Given the description of an element on the screen output the (x, y) to click on. 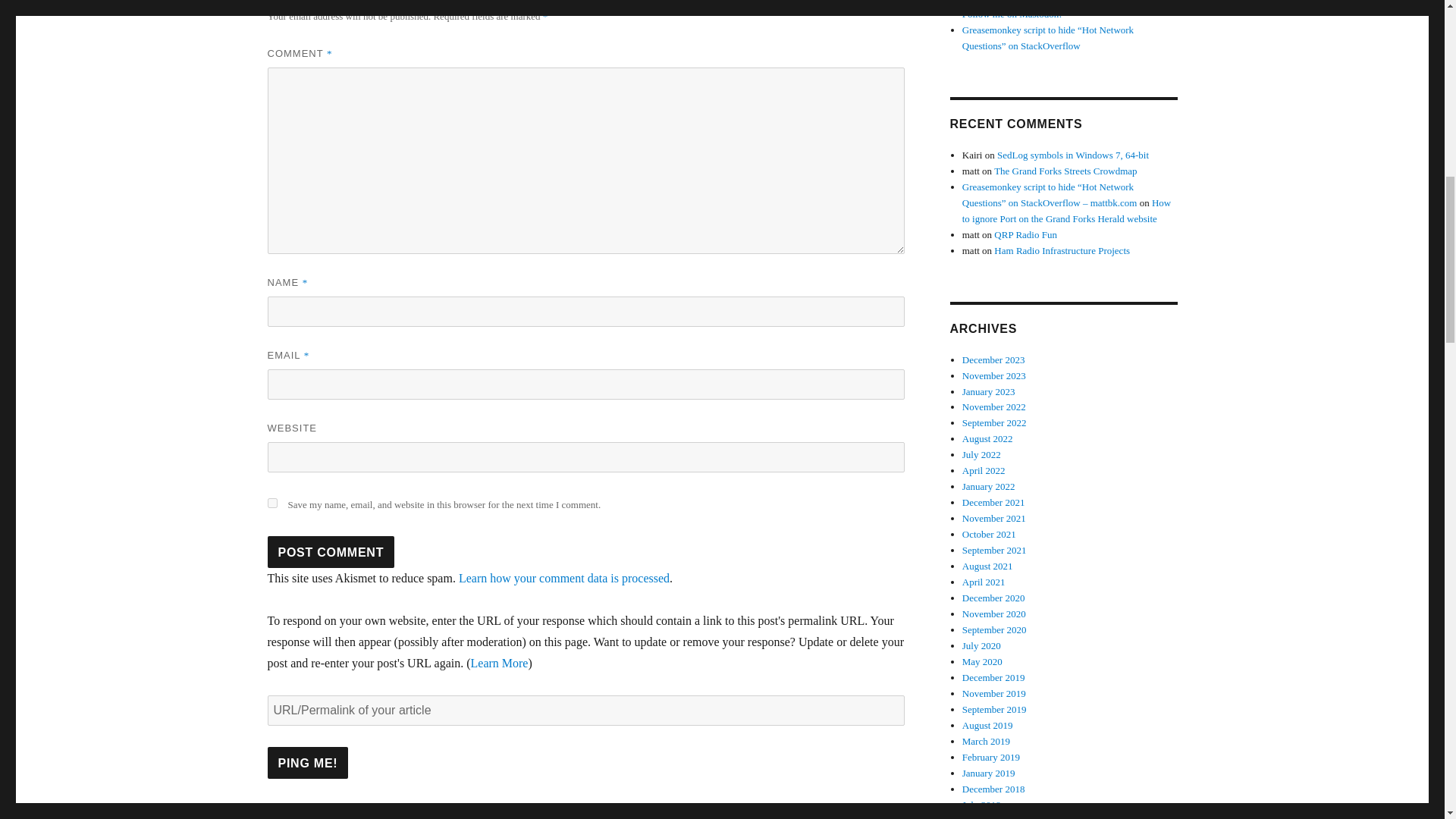
Follow me on Mastodon! (1012, 13)
November 2023 (994, 375)
SedLog symbols in Windows 7, 64-bit (1072, 154)
How to ignore Port on the Grand Forks Herald website (1067, 210)
Post Comment (330, 552)
Ping me! (306, 762)
Learn how your comment data is processed (563, 577)
Learn More (498, 662)
QRP Radio Fun (1025, 234)
Ham Radio Infrastructure Projects (1061, 250)
December 2023 (993, 359)
September 2022 (994, 422)
Northern Plains Athletics: End of an Era (1041, 2)
January 2023 (988, 390)
Post Comment (330, 552)
